Given the description of an element on the screen output the (x, y) to click on. 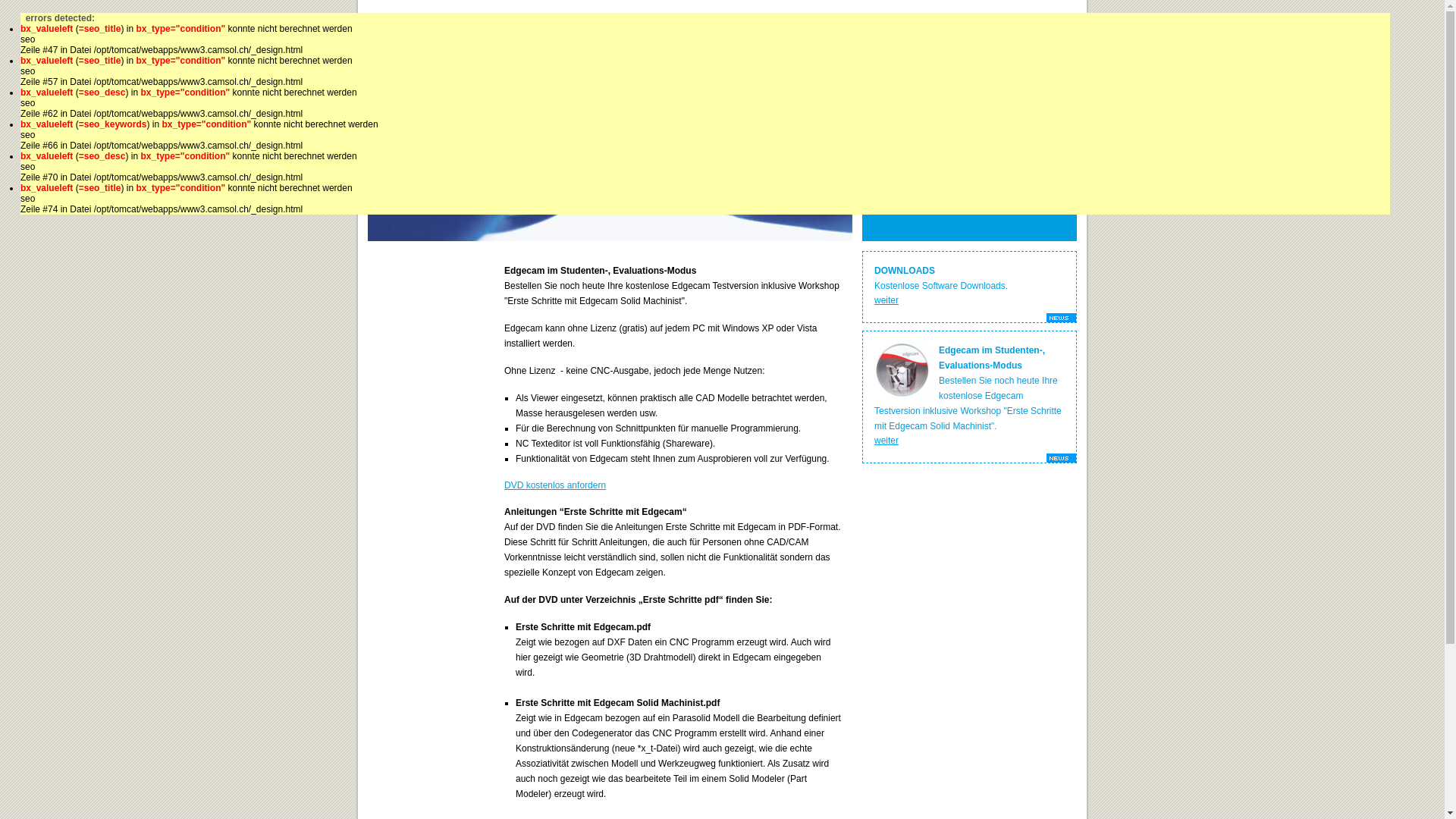
weiter Element type: text (886, 296)
Support Element type: text (720, 96)
DVD kostenlos anfordern Element type: text (554, 481)
Portrait Element type: text (864, 96)
Produkte Element type: text (577, 96)
Startseite Element type: text (434, 96)
weiter Element type: text (886, 436)
Kontakt Element type: text (1007, 96)
